Given the description of an element on the screen output the (x, y) to click on. 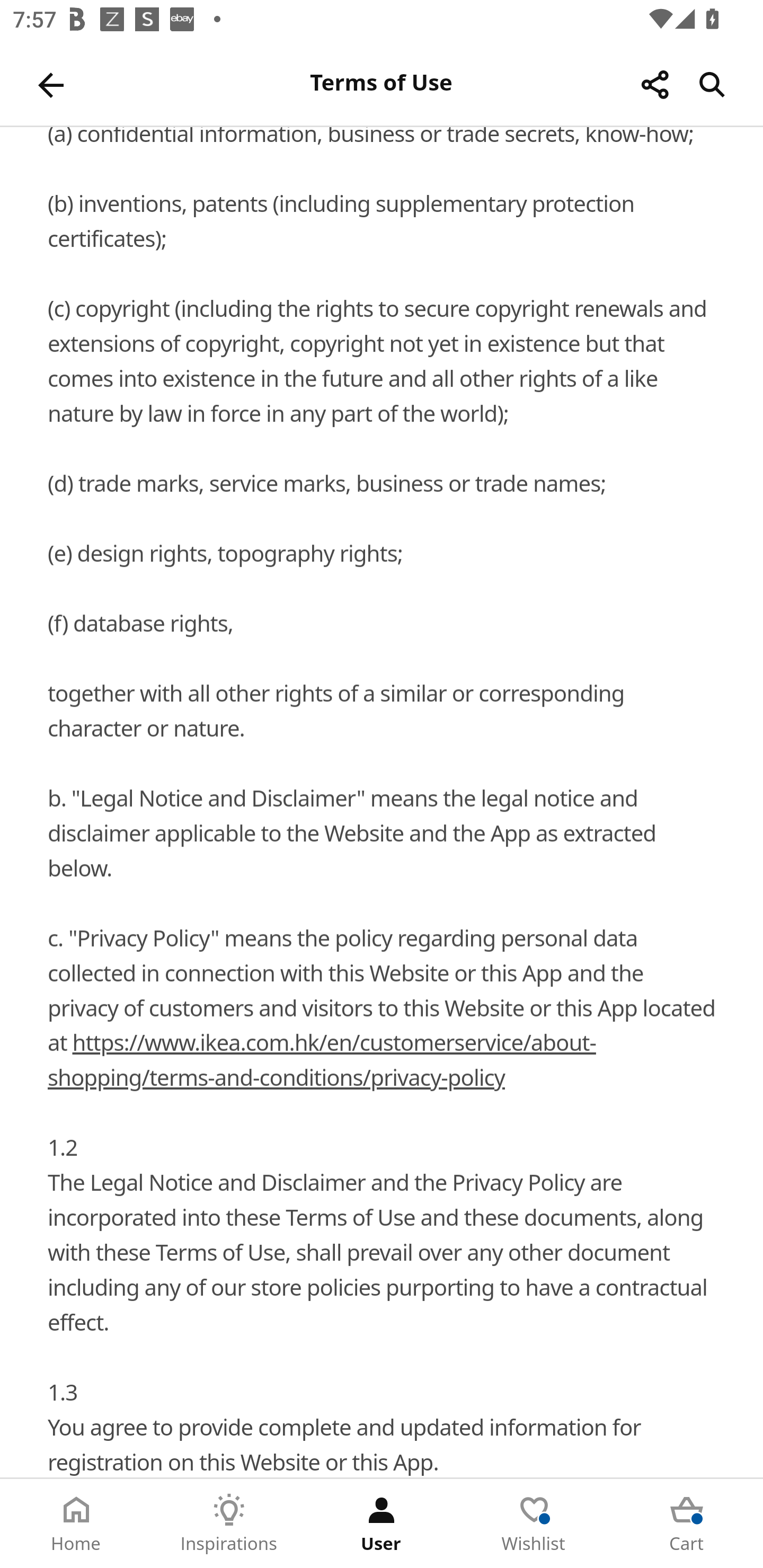
Home
Tab 1 of 5 (76, 1522)
Inspirations
Tab 2 of 5 (228, 1522)
User
Tab 3 of 5 (381, 1522)
Wishlist
Tab 4 of 5 (533, 1522)
Cart
Tab 5 of 5 (686, 1522)
